Given the description of an element on the screen output the (x, y) to click on. 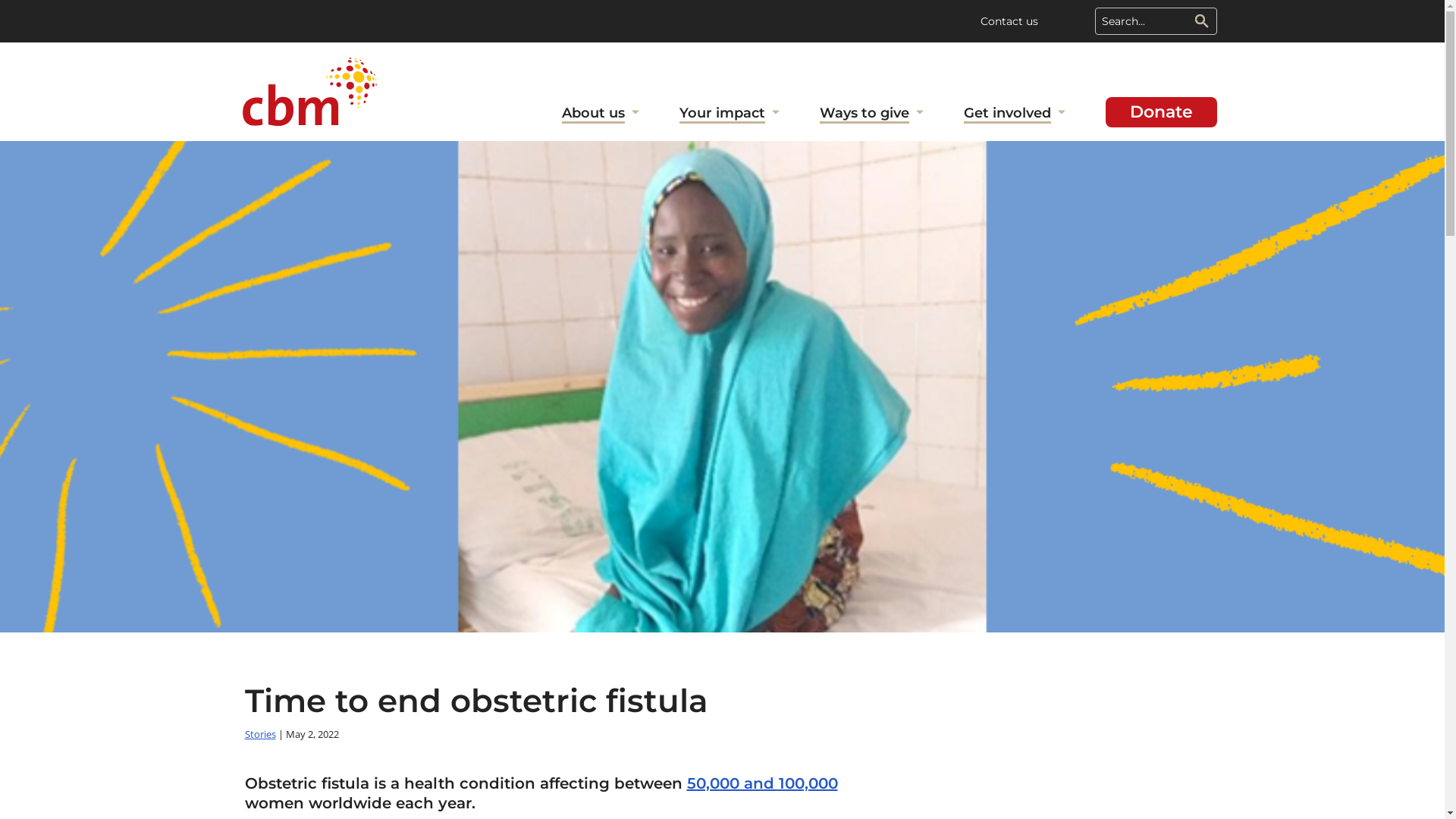
Contact us Element type: text (1009, 20)
Ways to give Element type: text (864, 114)
Show submenu for "Your impact" Element type: text (775, 114)
Stories Element type: text (259, 733)
Show submenu for "About us" Element type: text (635, 114)
Show submenu for "Ways to give" Element type: text (919, 114)
Your impact Element type: text (722, 114)
Get involved Element type: text (1007, 114)
50,000 and 100,000 Element type: text (762, 783)
About us Element type: text (593, 114)
Show submenu for "Get involved" Element type: text (1061, 114)
Donate Element type: text (1161, 112)
